Given the description of an element on the screen output the (x, y) to click on. 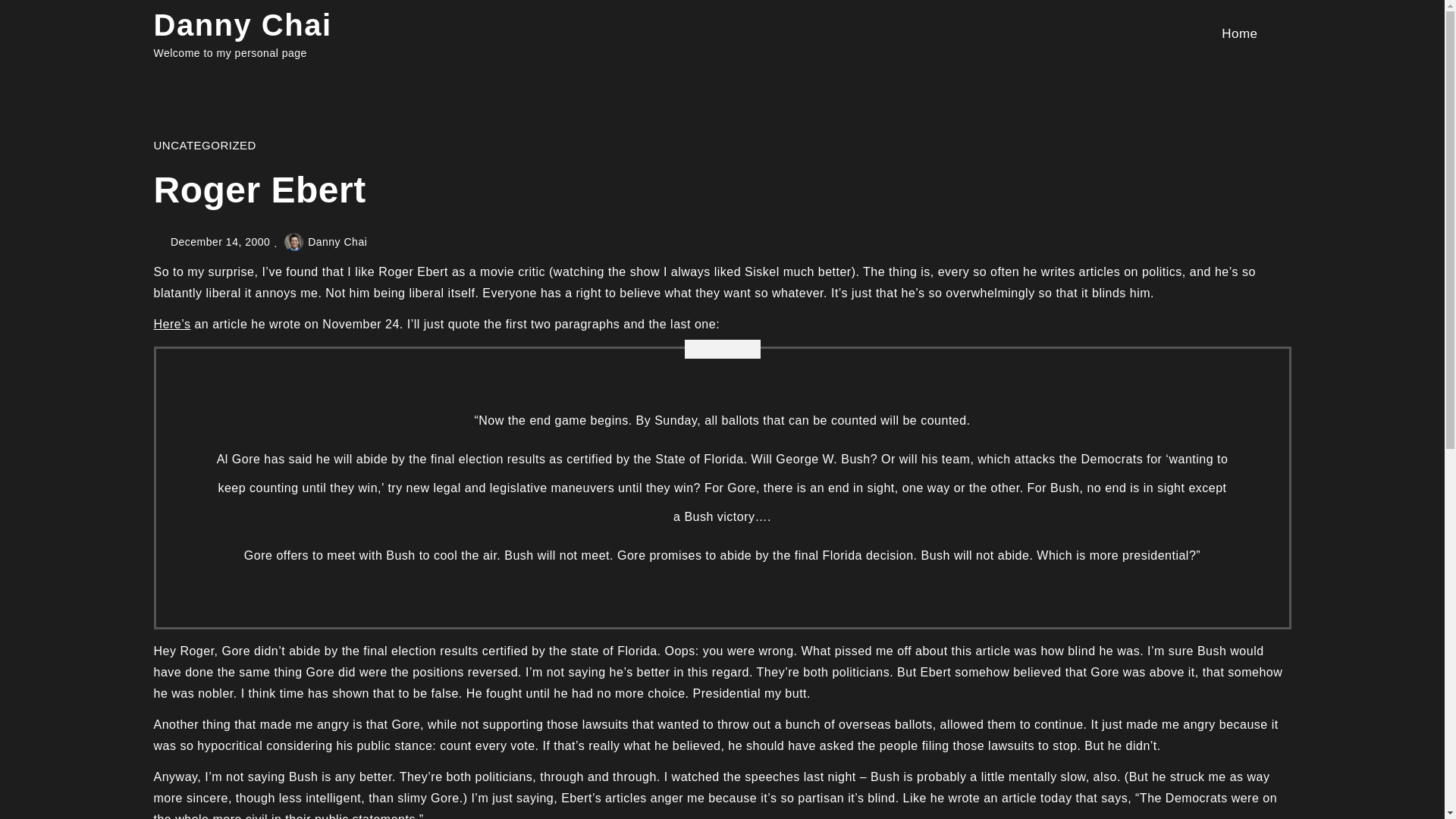
Home (1239, 33)
UNCATEGORIZED (204, 144)
Danny Chai (241, 24)
December 14, 2000 (219, 241)
Danny Chai (324, 241)
